Given the description of an element on the screen output the (x, y) to click on. 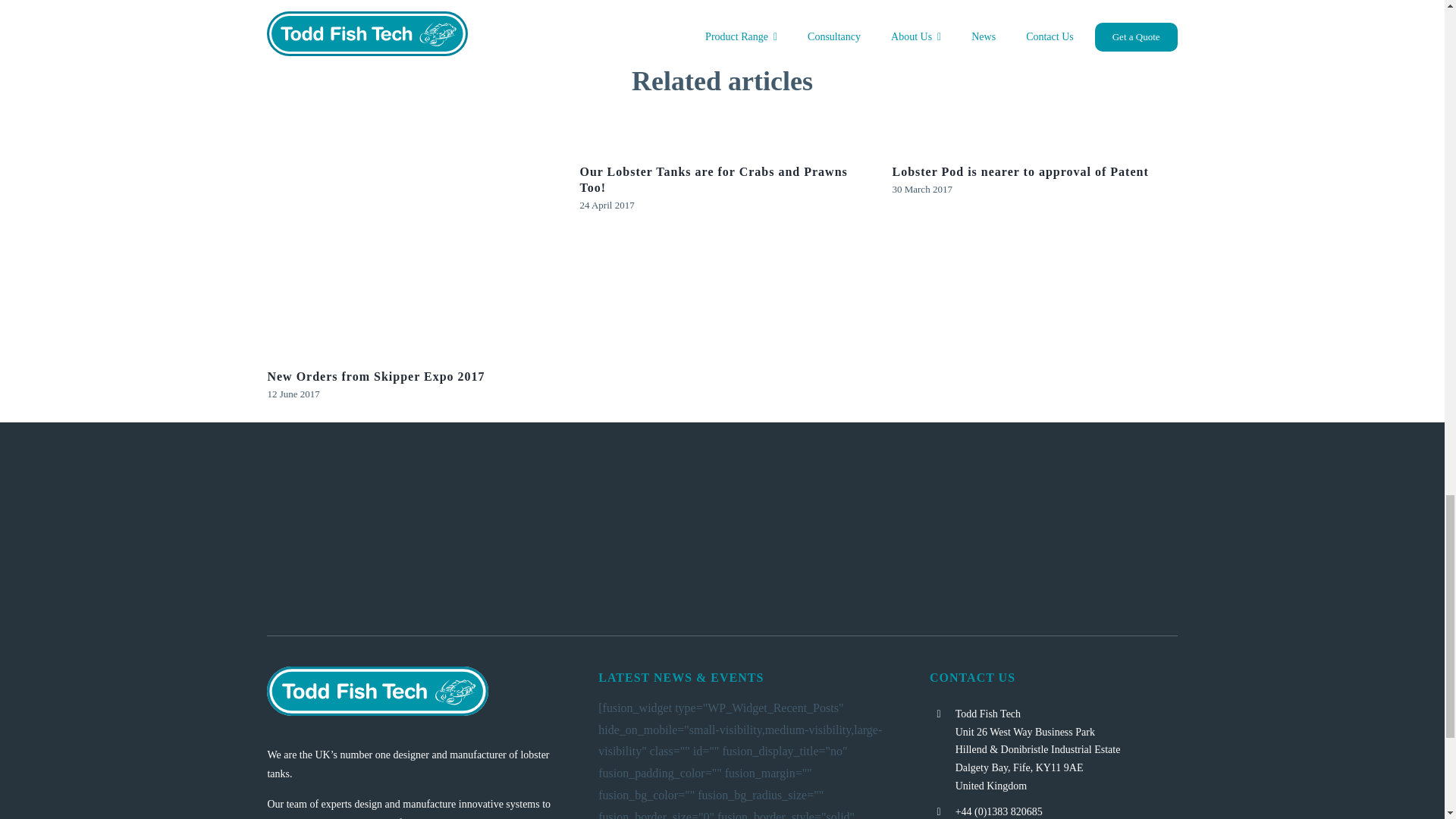
Our Lobster Tanks are for Crabs and Prawns Too! (713, 179)
Lobster Pod is nearer to approval of Patent (1019, 171)
Lobster Pod is nearer to approval of Patent (1019, 171)
New Orders from Skipper Expo 2017 (375, 376)
Our Lobster Tanks are for Crabs and Prawns Too! (713, 179)
New Orders from Skipper Expo 2017 (375, 376)
